Given the description of an element on the screen output the (x, y) to click on. 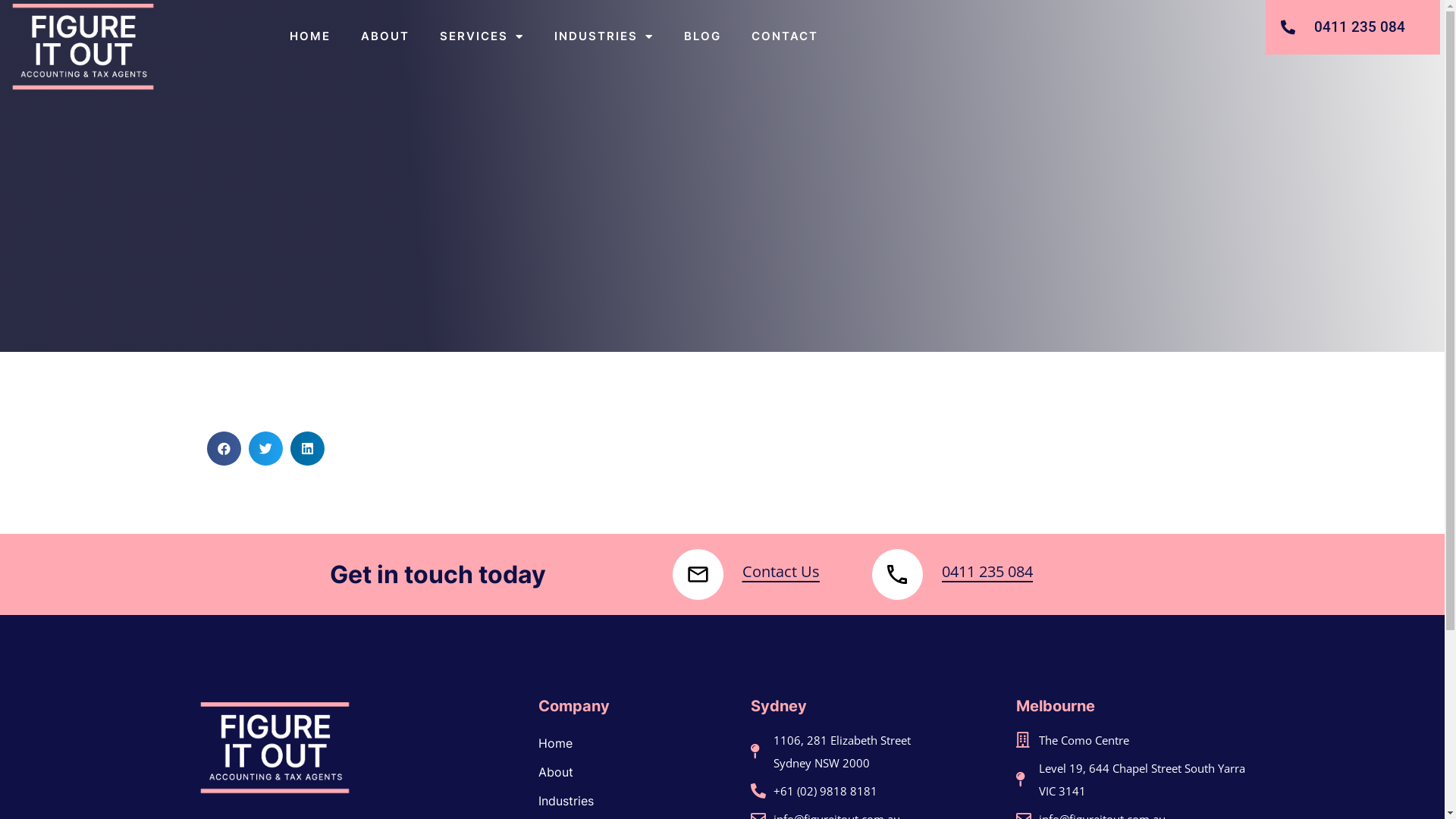
+61 (02) 9818 8181 Element type: text (844, 790)
CONTACT Element type: text (784, 35)
ABOUT Element type: text (384, 35)
About Element type: text (636, 771)
SERVICES Element type: text (481, 35)
Industries Element type: text (636, 800)
Home Element type: text (636, 742)
Contact Us Element type: text (780, 571)
BLOG Element type: text (702, 35)
0411 235 084 Element type: text (1352, 27)
HOME Element type: text (309, 35)
INDUSTRIES Element type: text (603, 35)
0411 235 084 Element type: text (986, 571)
